Given the description of an element on the screen output the (x, y) to click on. 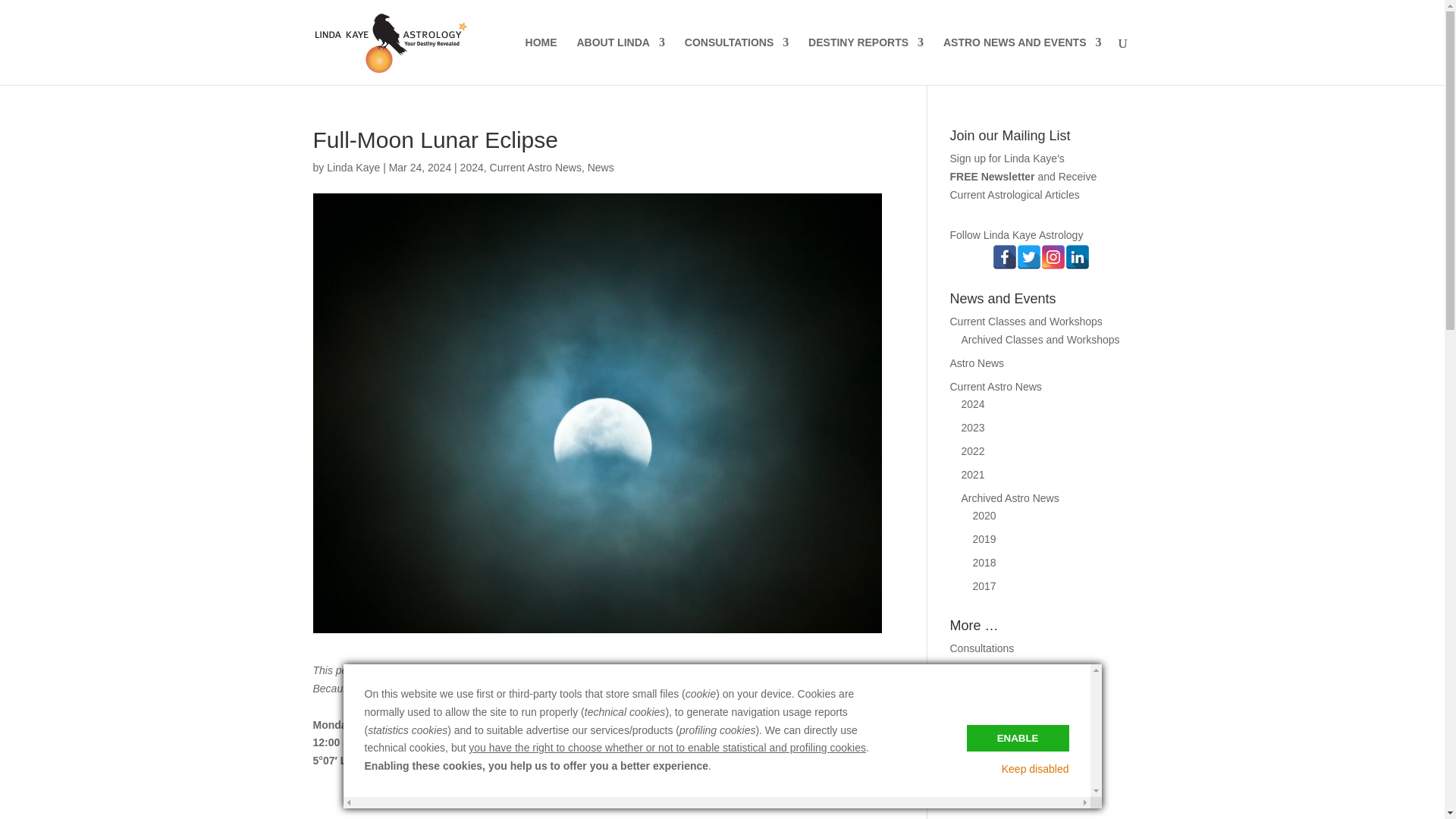
DESTINY REPORTS (865, 60)
ABOUT LINDA (619, 60)
Facebook (1003, 256)
Posts by Linda Kaye (353, 167)
CONSULTATIONS (736, 60)
ASTRO NEWS AND EVENTS (1022, 60)
Twitter (1028, 256)
LinkedIn (1076, 256)
Instagram (1052, 256)
